Given the description of an element on the screen output the (x, y) to click on. 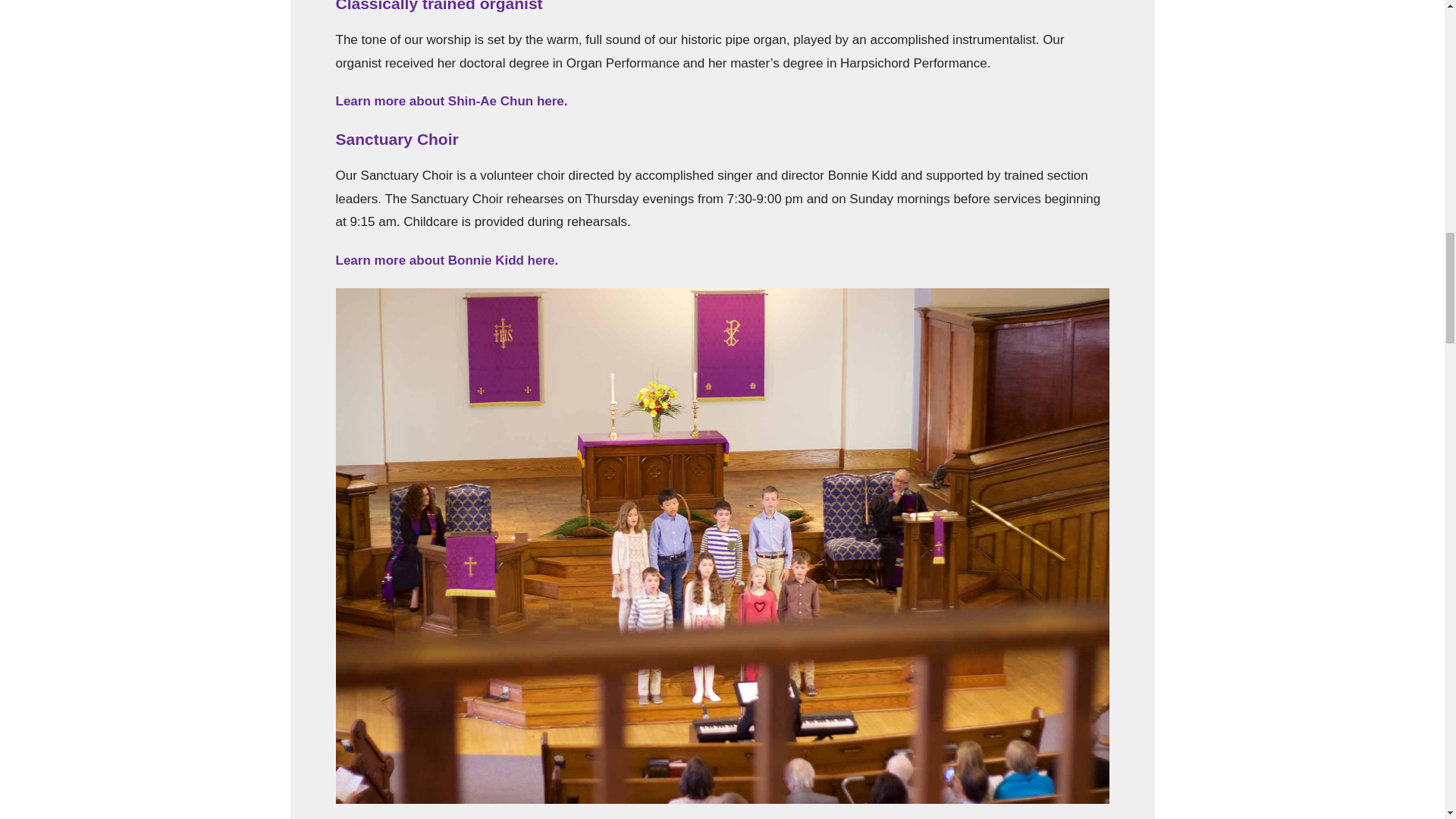
Learn more about Shin-Ae Chun here. (450, 101)
Learn more about Bonnie Kidd here. (445, 260)
